Given the description of an element on the screen output the (x, y) to click on. 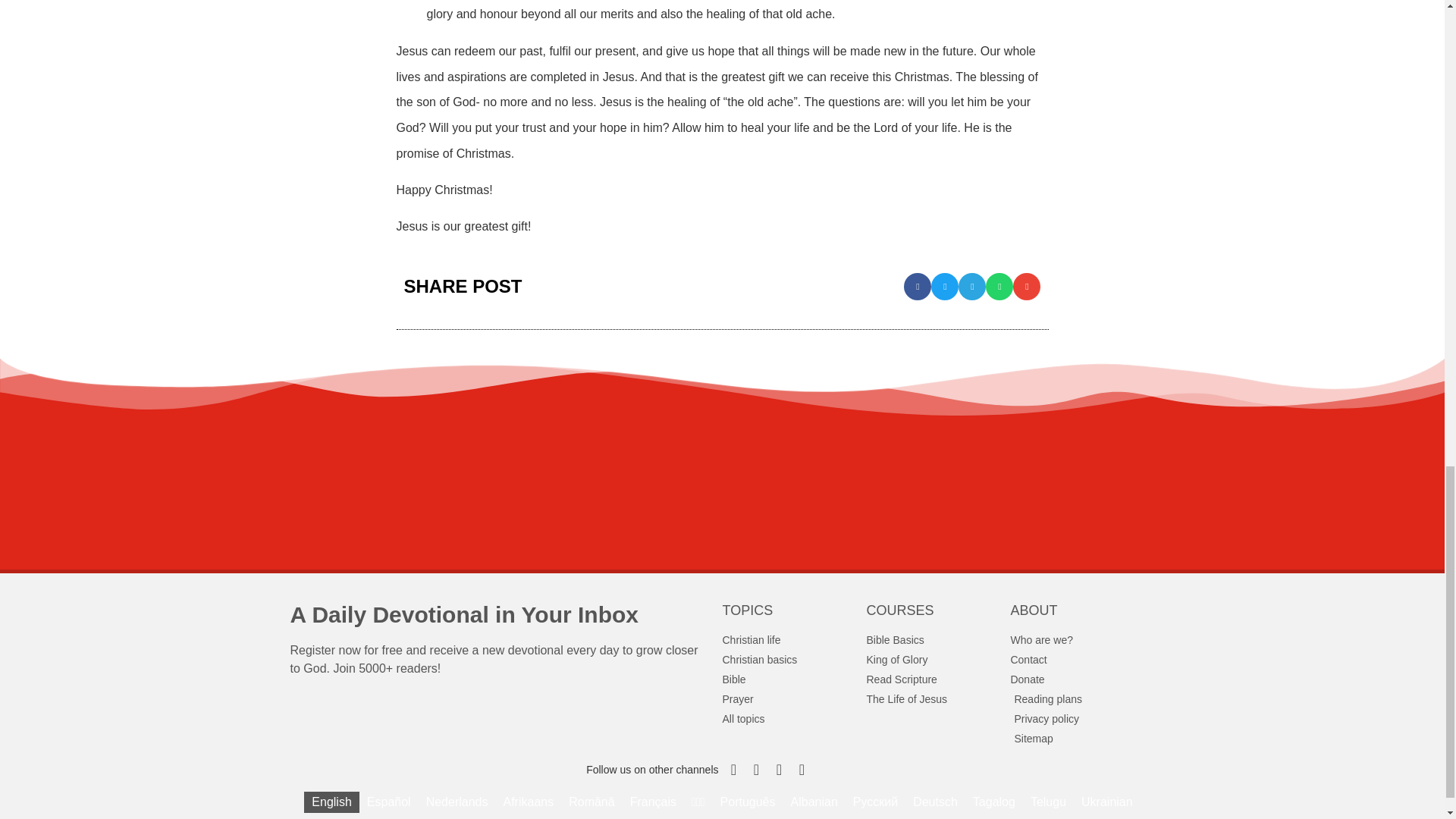
All topics (794, 719)
Christian basics (794, 659)
Prayer (794, 699)
Bible (794, 679)
Christian life (794, 640)
